Given the description of an element on the screen output the (x, y) to click on. 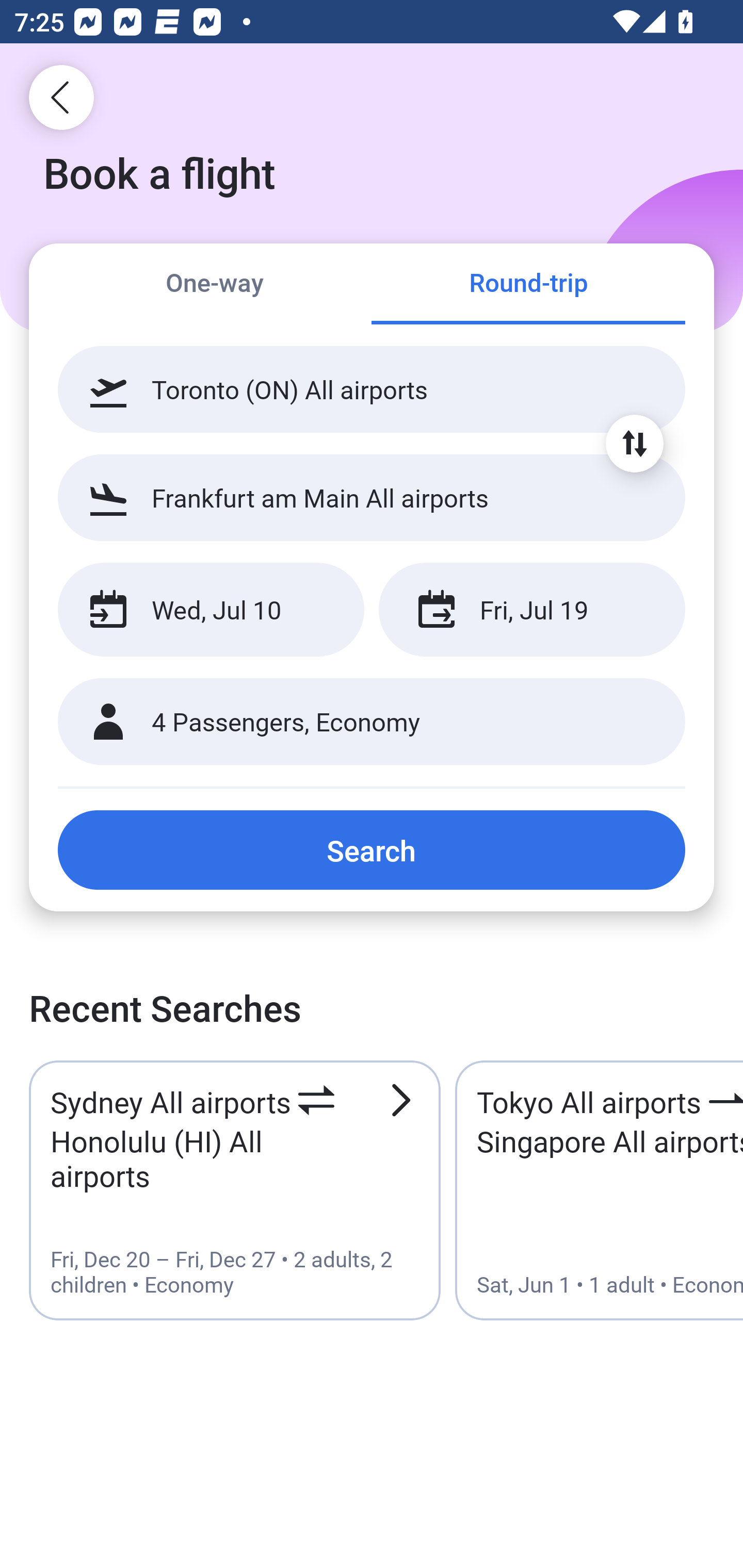
One-way (214, 284)
Toronto (ON) All airports (371, 389)
Frankfurt am Main All airports (371, 497)
Wed, Jul 10 (210, 609)
Fri, Jul 19 (531, 609)
4 Passengers, Economy (371, 721)
Search (371, 849)
